Given the description of an element on the screen output the (x, y) to click on. 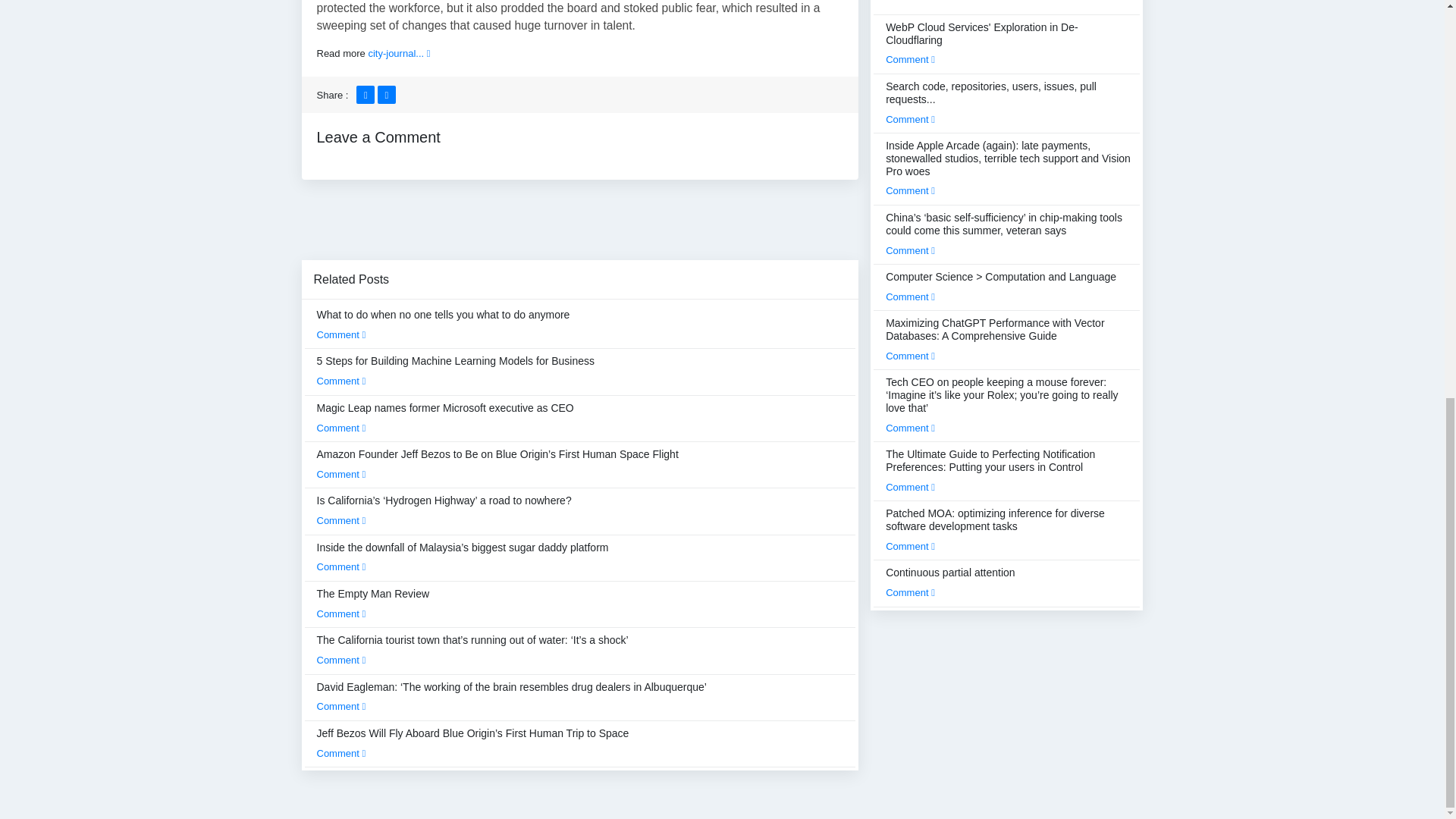
Comment (341, 334)
The Empty Man Review (373, 603)
Comment (341, 520)
Comment (341, 613)
5 Steps for Building Machine Learning Models for Business (456, 370)
Magic Leap names former Microsoft executive as CEO (445, 418)
Comment (341, 706)
What to do when no one tells you what to do anymore (443, 324)
Comment (341, 659)
city-journal... (398, 52)
Comment (341, 473)
Comment (341, 566)
Comment (341, 380)
Comment (341, 428)
